Given the description of an element on the screen output the (x, y) to click on. 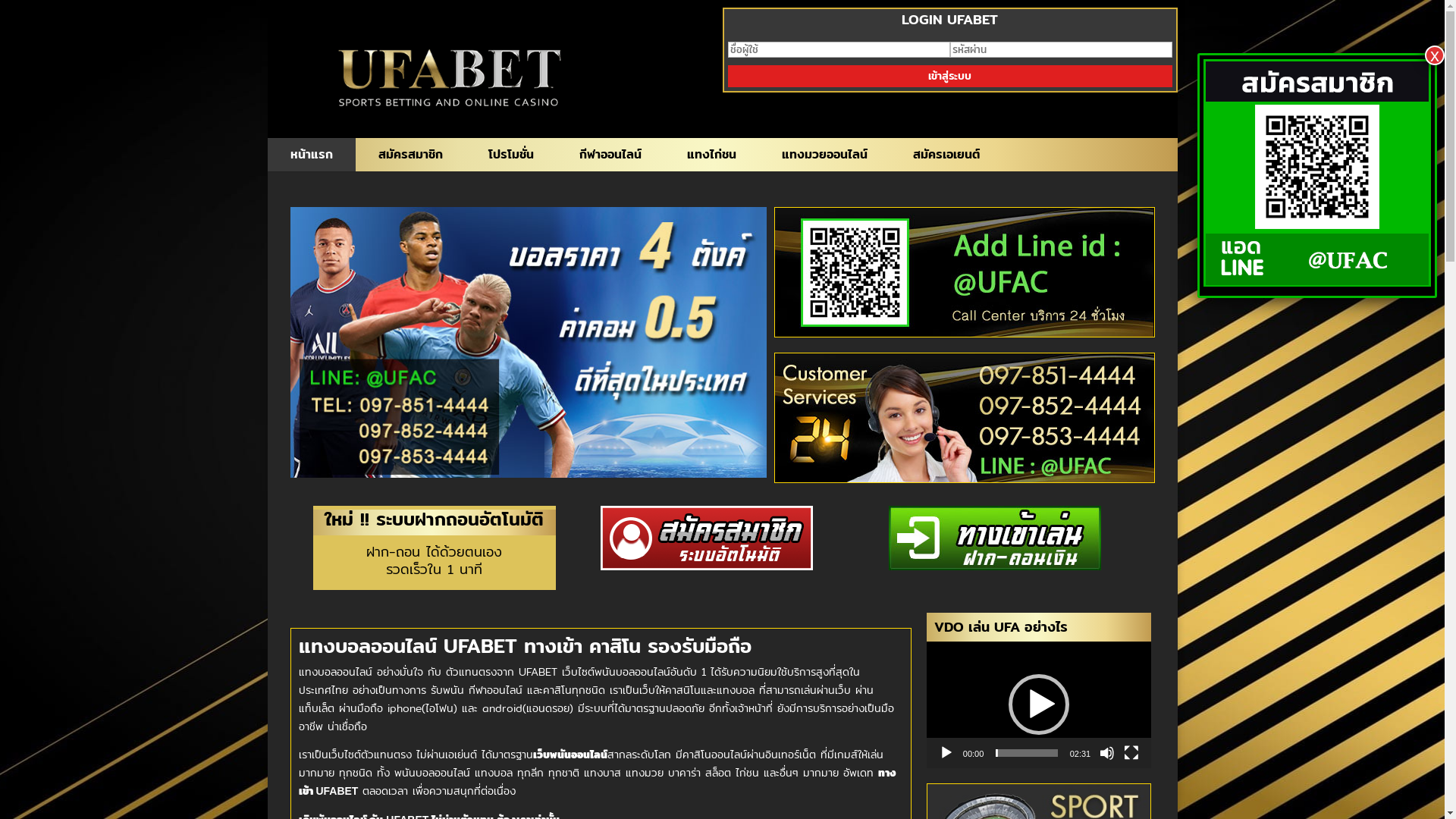
side-slide500x170-customer-@ufac Element type: hover (964, 417)
regis-head3 Element type: hover (706, 537)
side-slide500x170lineid-@ufac Element type: hover (964, 271)
Fullscreen Element type: hover (1131, 752)
x Element type: text (1434, 55)
login-head3 Element type: hover (994, 537)
Mute Element type: hover (1106, 752)
Play Element type: hover (945, 752)
